Given the description of an element on the screen output the (x, y) to click on. 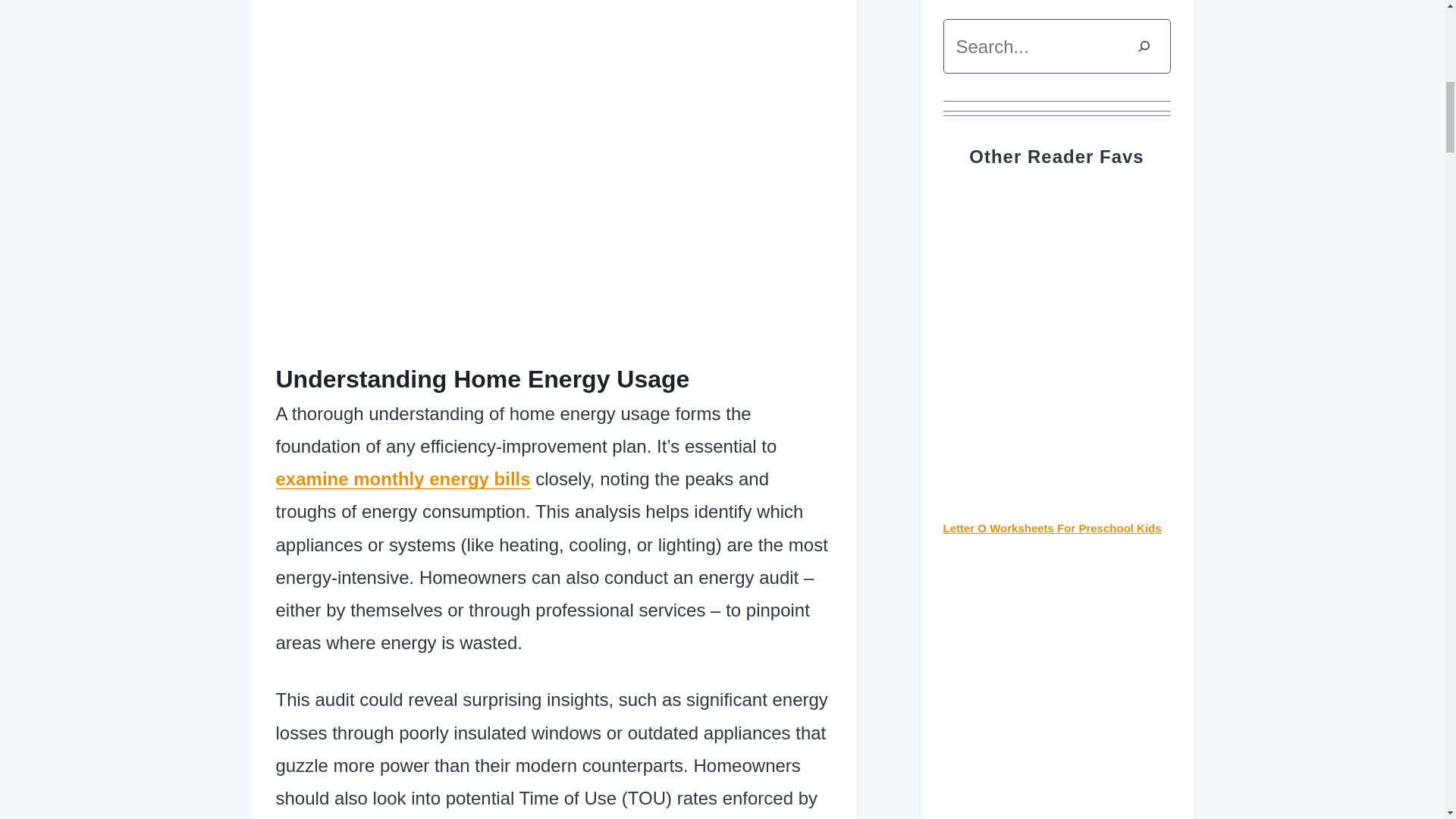
examine monthly energy bills (403, 478)
